Given the description of an element on the screen output the (x, y) to click on. 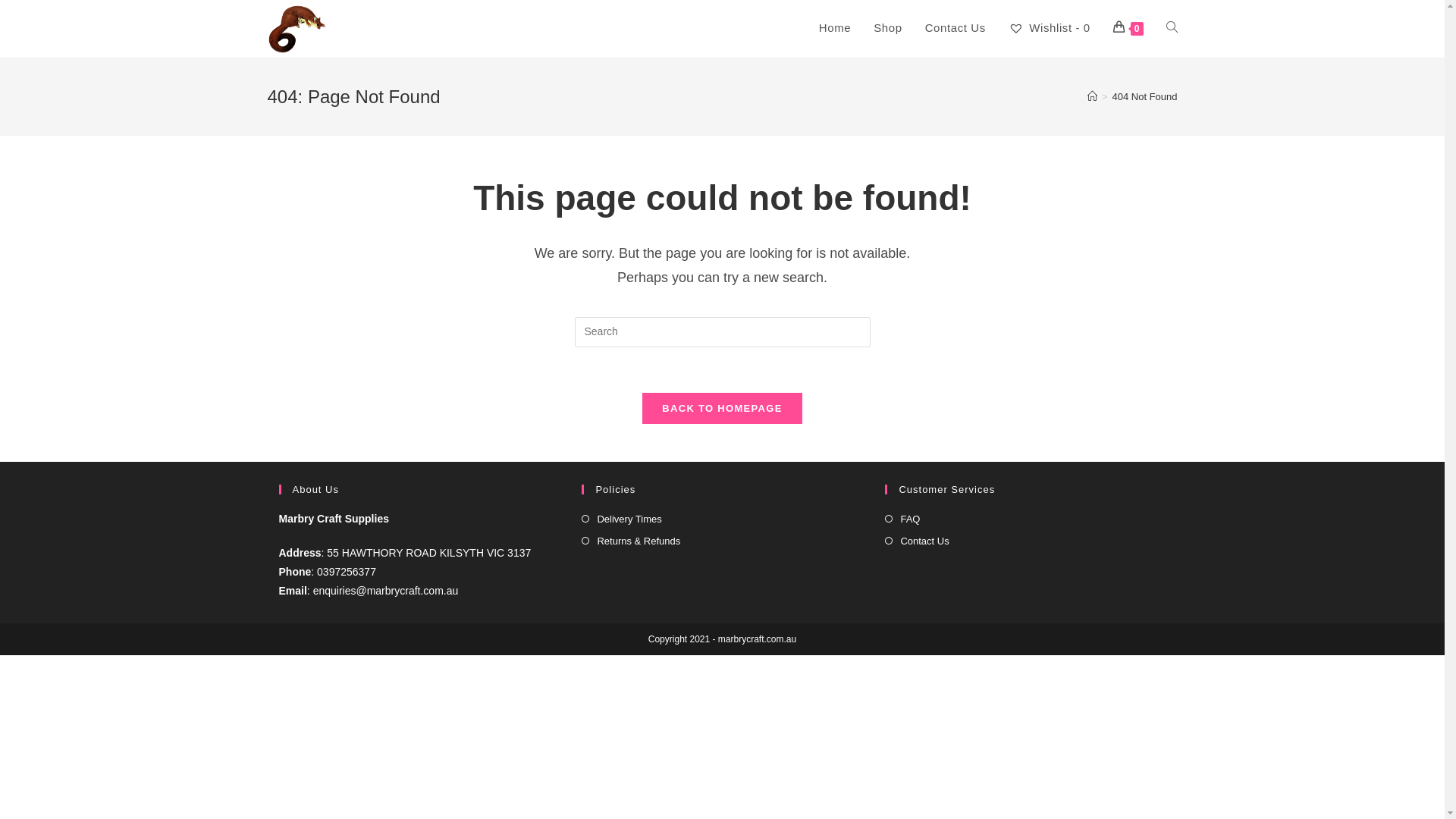
BACK TO HOMEPAGE Element type: text (721, 407)
Shop Element type: text (887, 28)
FAQ Element type: text (901, 518)
Delivery Times Element type: text (621, 518)
Home Element type: text (834, 28)
404 Not Found Element type: text (1143, 96)
Contact Us Element type: text (916, 540)
Returns & Refunds Element type: text (630, 540)
enquiries@marbrycraft.com.au Element type: text (385, 590)
marbrycraft.com.au Element type: text (757, 638)
Wishlist - 0 Element type: text (1049, 28)
Contact Us Element type: text (955, 28)
0 Element type: text (1127, 28)
0397256377  Element type: text (347, 571)
